Given the description of an element on the screen output the (x, y) to click on. 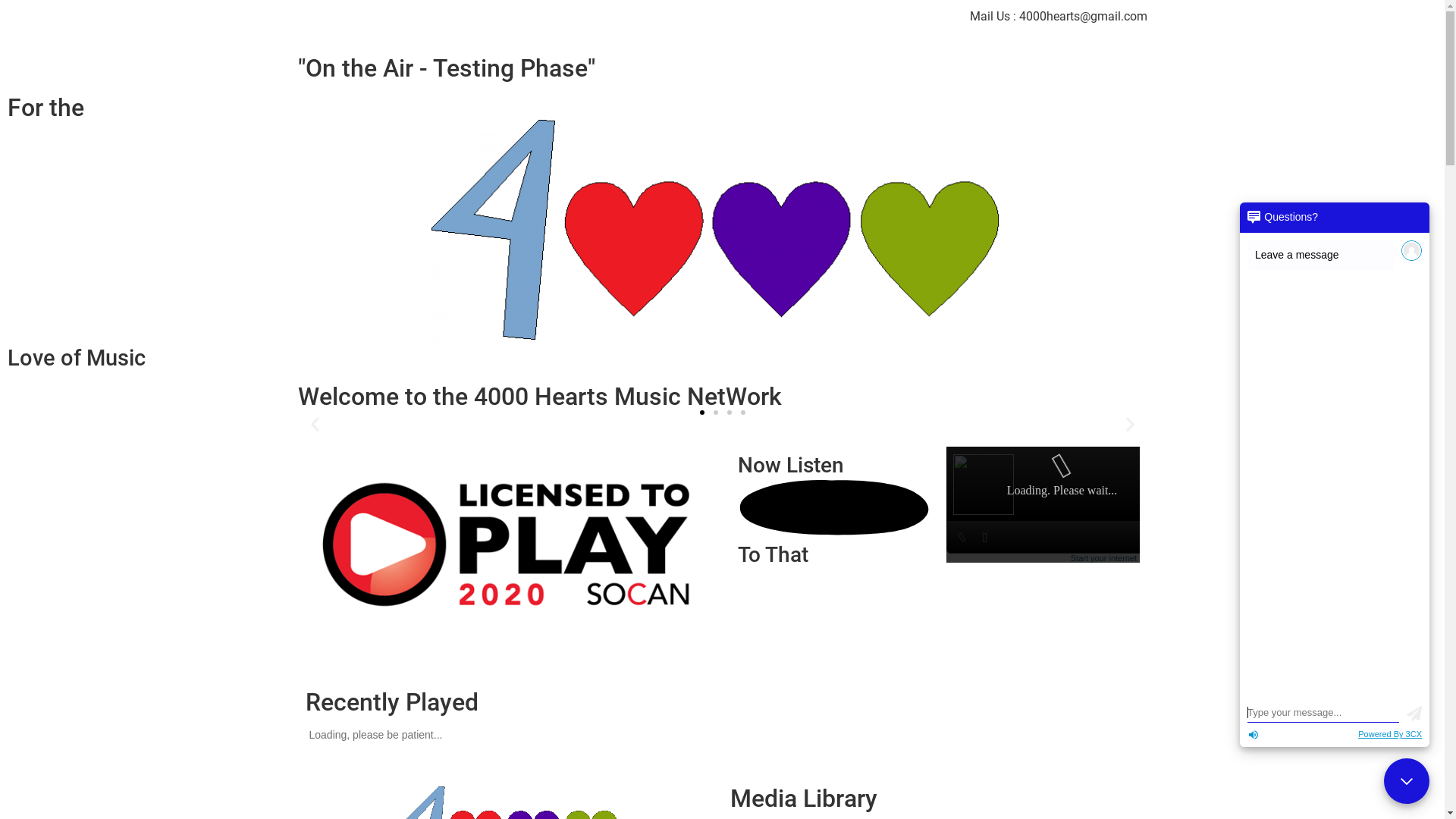
4000 ONLY Element type: hover (721, 233)
